Given the description of an element on the screen output the (x, y) to click on. 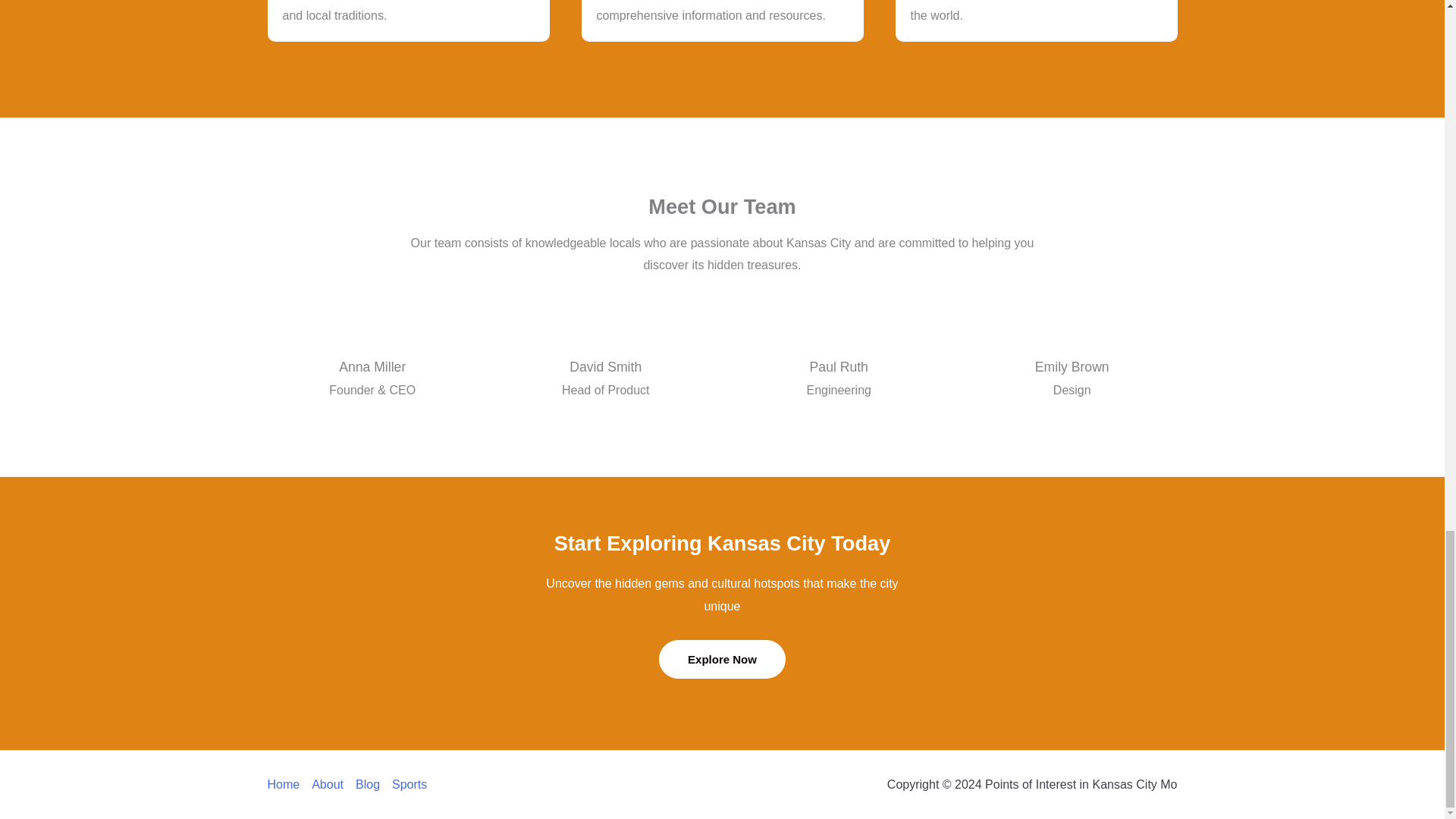
About (327, 784)
Home (285, 784)
Explore Now (722, 658)
Sports (405, 784)
Blog (367, 784)
